Given the description of an element on the screen output the (x, y) to click on. 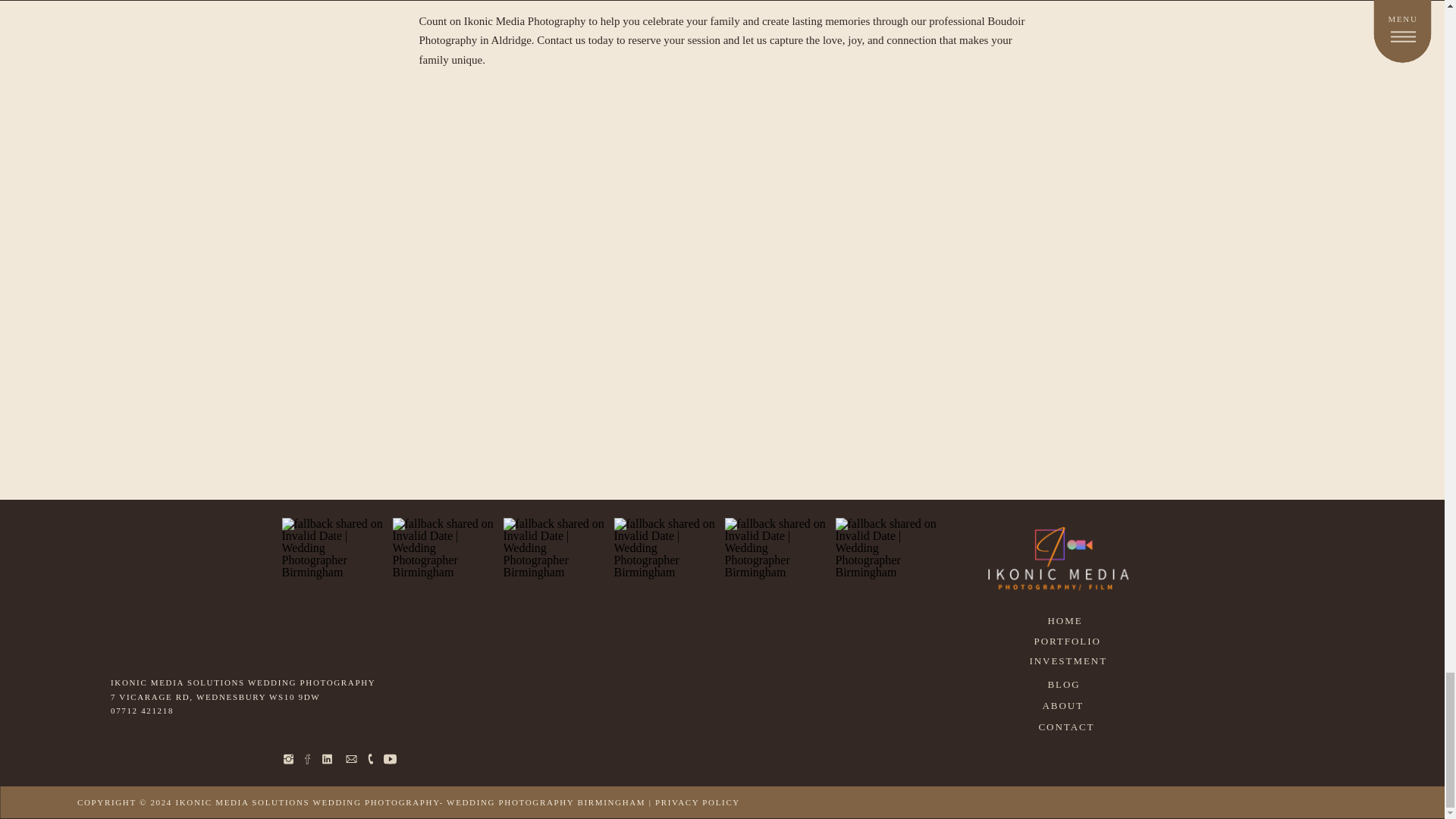
ABOUT (1066, 704)
HOME (1069, 619)
PRIVACY POLICY (697, 801)
BLOG (1067, 683)
INVESTMENT (1070, 659)
CONTACT (1069, 725)
PORTFOLIO (1070, 640)
